Given the description of an element on the screen output the (x, y) to click on. 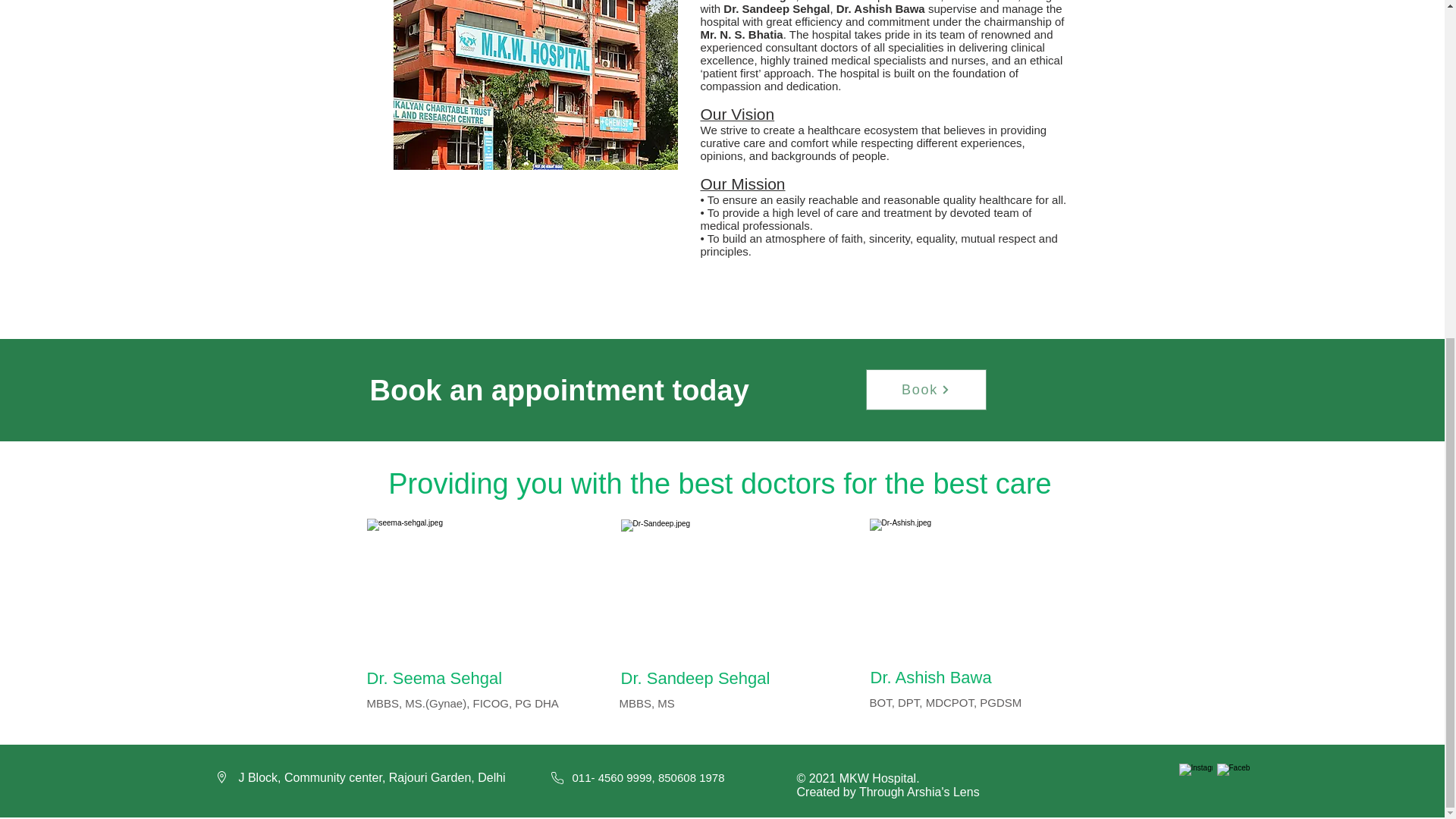
Book (926, 389)
